Given the description of an element on the screen output the (x, y) to click on. 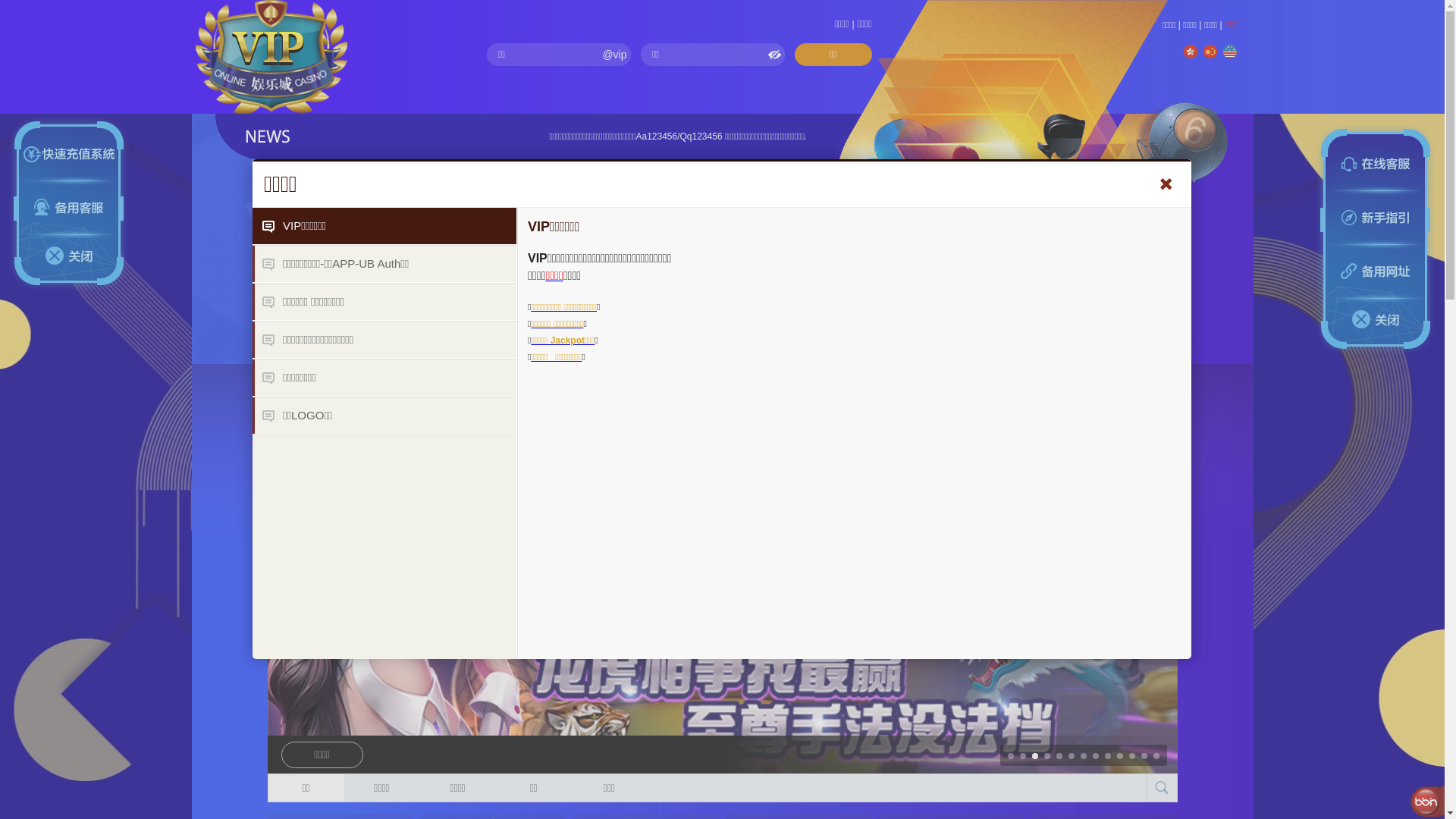
English Element type: hover (1228, 51)
